Given the description of an element on the screen output the (x, y) to click on. 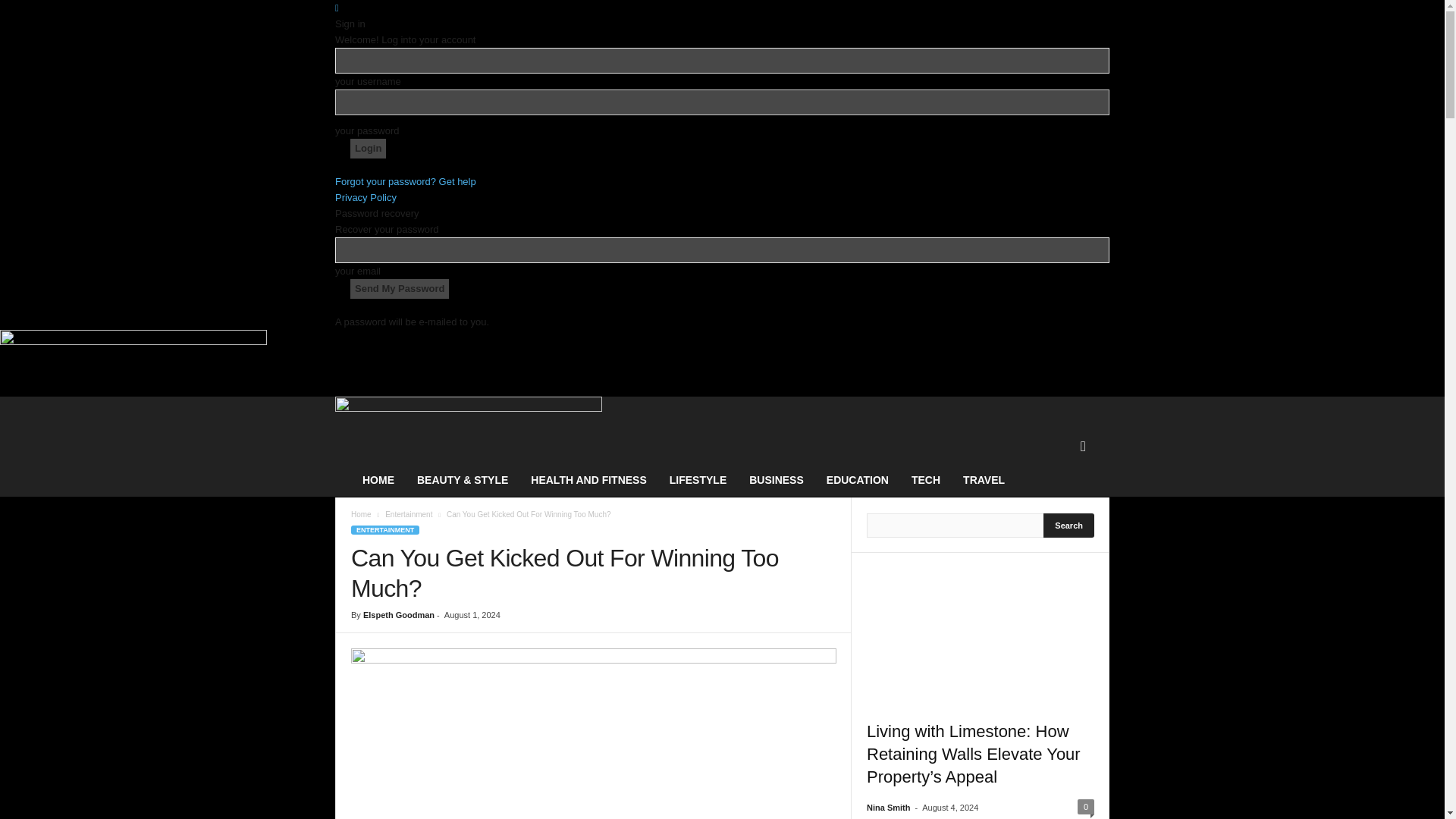
Elspeth Goodman (397, 614)
TRAVEL (984, 479)
Privacy Policy (365, 197)
BUSINESS (776, 479)
ENTERTAINMENT (384, 529)
EDUCATION (857, 479)
LIFESTYLE (698, 479)
Login (367, 148)
gambling (592, 733)
Forgot your password? Get help (405, 181)
